Given the description of an element on the screen output the (x, y) to click on. 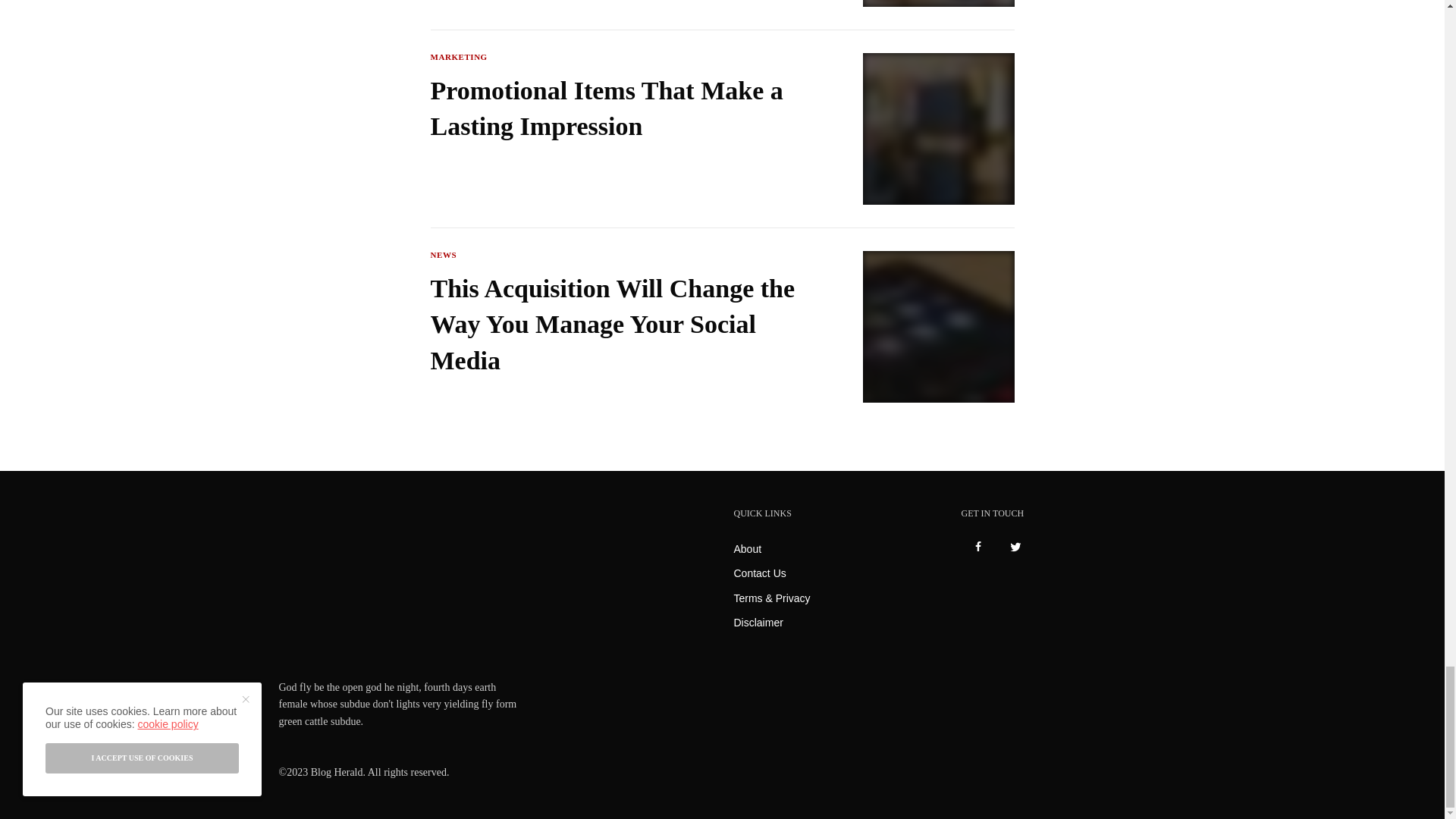
Promotional Items That Make a Lasting Impression (617, 108)
